Given the description of an element on the screen output the (x, y) to click on. 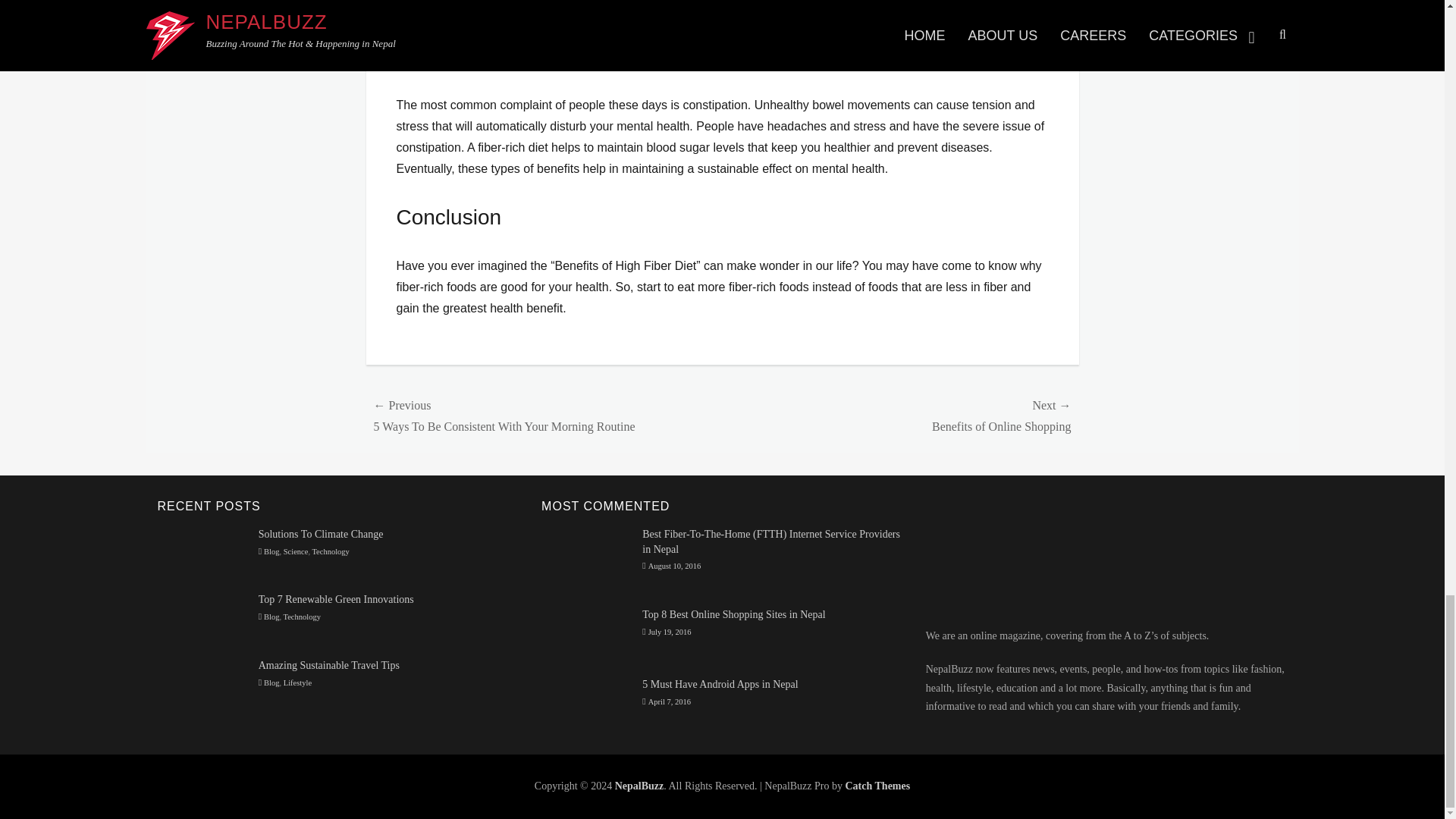
Solutions To Climate Change (321, 533)
5 Must Have Android Apps in Nepal (719, 684)
Top 7 Renewable Green Innovations (336, 599)
5 Must Have Android Apps in Nepal (586, 700)
Top 7 Renewable Green Innovations (202, 616)
Solutions To Climate Change (202, 551)
Amazing Sustainable Travel Tips (202, 681)
Top 8 Best Online Shopping Sites in Nepal (586, 635)
Solutions To Climate Change (321, 533)
Amazing Sustainable Travel Tips (328, 665)
Top 8 Best Online Shopping Sites in Nepal (733, 614)
